Given the description of an element on the screen output the (x, y) to click on. 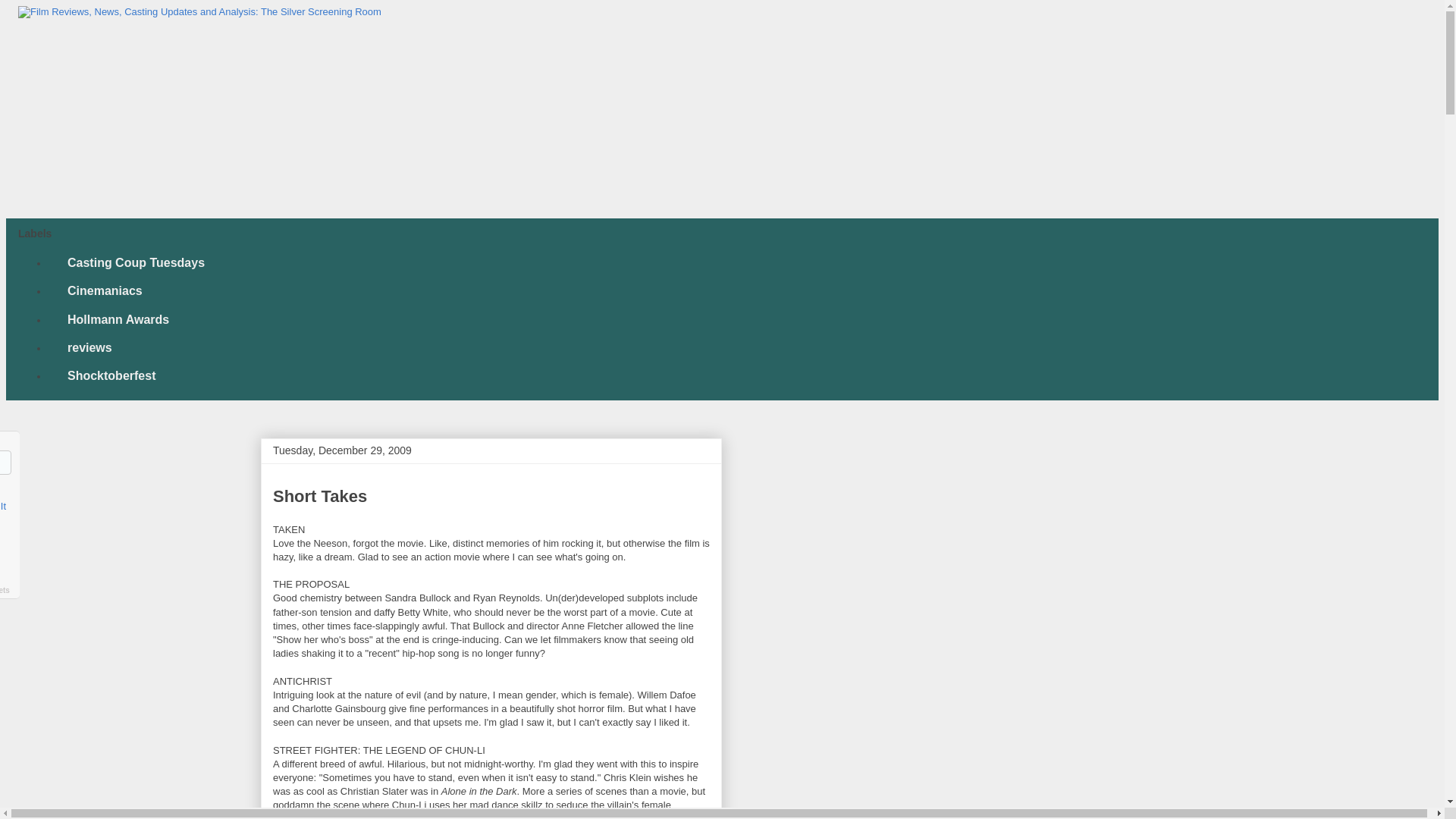
Widgets (5, 590)
Cinemaniacs (104, 291)
Shocktoberfest (111, 375)
Casting Coup Tuesdays (135, 263)
reviews (89, 347)
Hollmann Awards (117, 319)
